Given the description of an element on the screen output the (x, y) to click on. 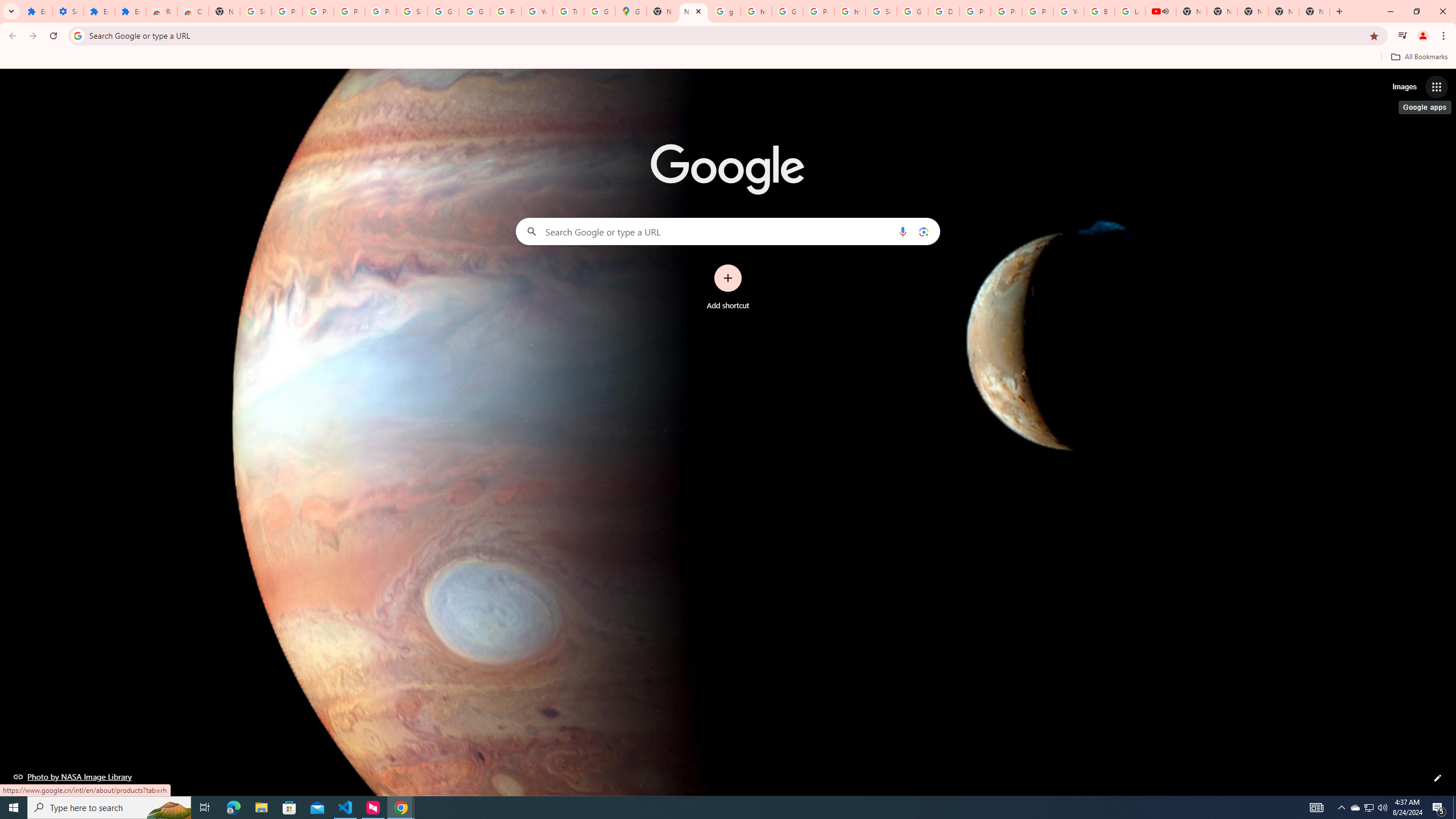
YouTube (1068, 11)
Privacy Help Center - Policies Help (974, 11)
Extensions (130, 11)
Sign in - Google Accounts (411, 11)
Extensions (98, 11)
